Given the description of an element on the screen output the (x, y) to click on. 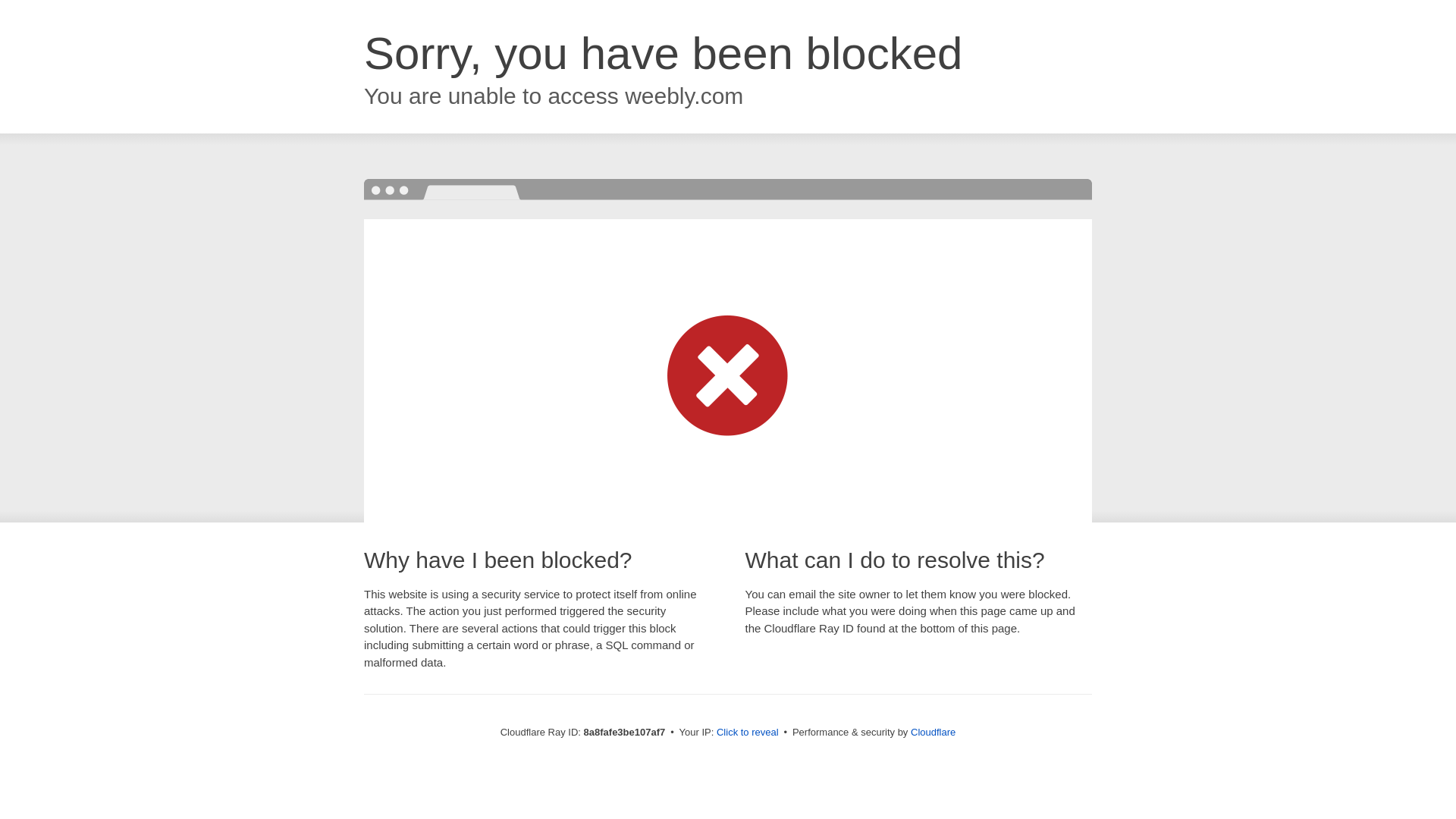
Click to reveal (747, 732)
Cloudflare (933, 731)
